Given the description of an element on the screen output the (x, y) to click on. 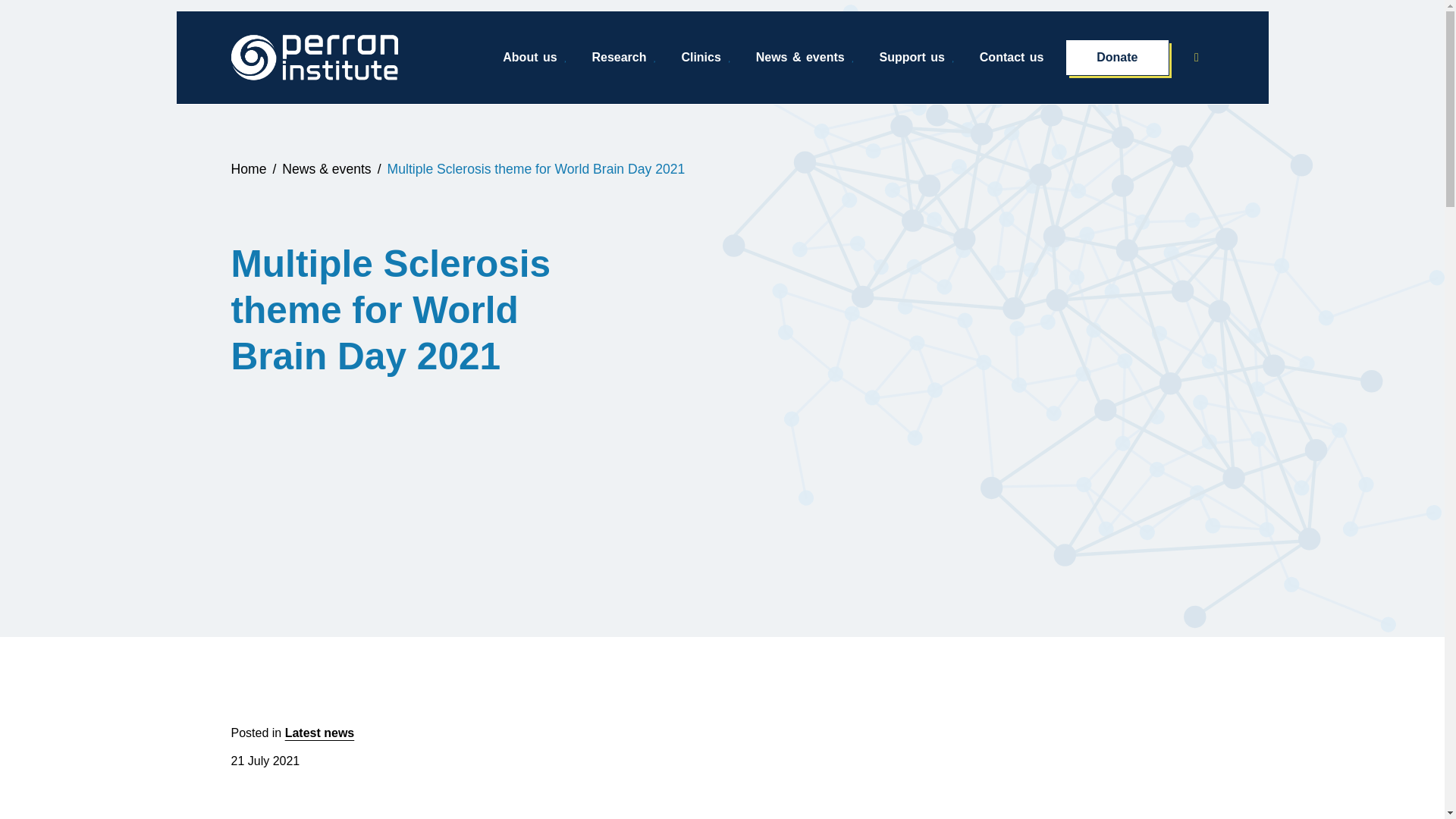
About us (534, 57)
Search (1201, 57)
Research (623, 57)
Donate (1117, 57)
Contact us (1012, 57)
Support us (917, 57)
